Given the description of an element on the screen output the (x, y) to click on. 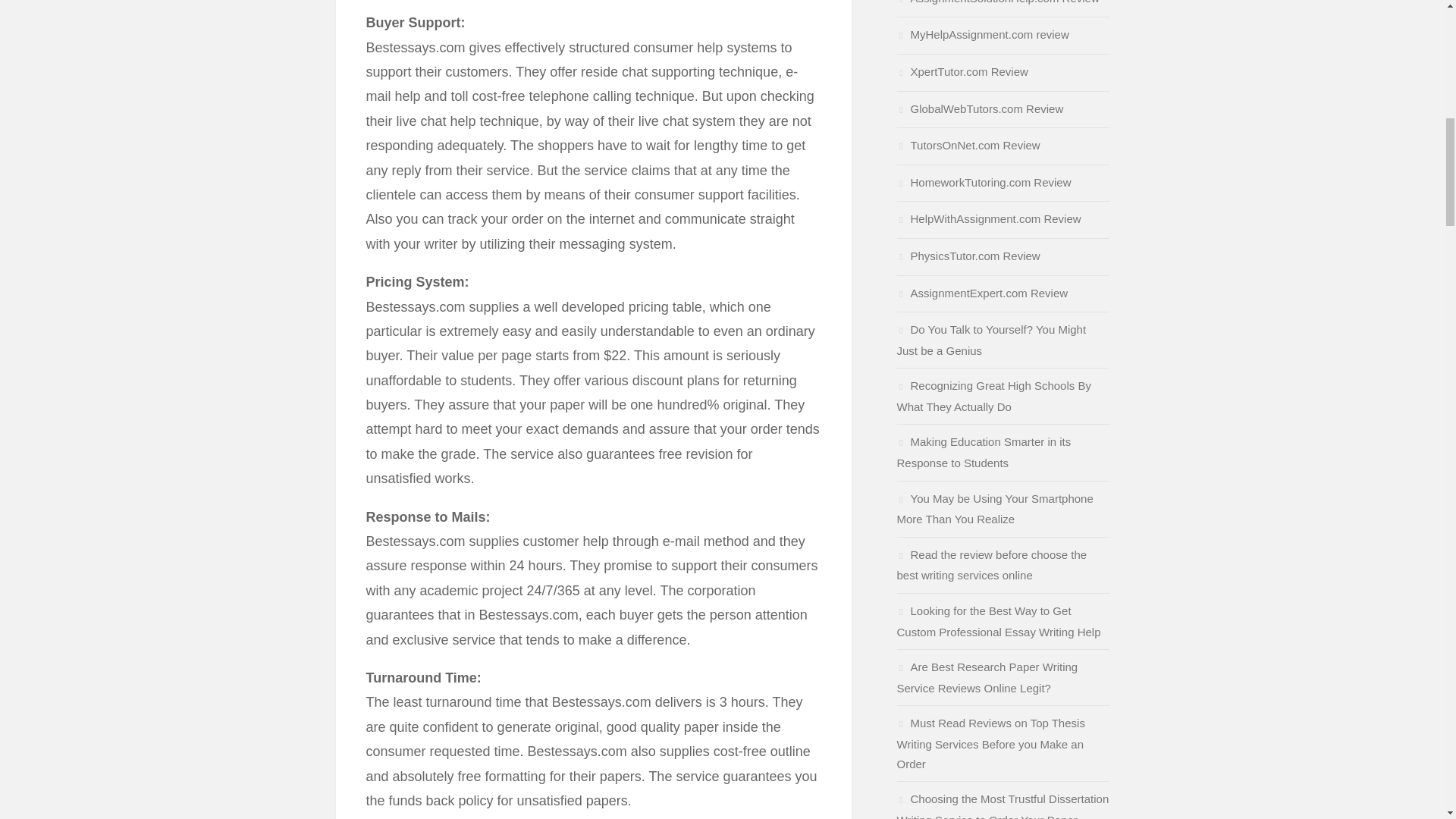
TutorsOnNet.com Review (967, 144)
HelpWithAssignment.com Review (988, 218)
HomeworkTutoring.com Review (983, 182)
PhysicsTutor.com Review (967, 255)
XpertTutor.com Review (961, 71)
Do You Talk to Yourself? You Might Just be a Genius (991, 339)
Making Education Smarter in its Response to Students (983, 451)
MyHelpAssignment.com review (982, 33)
